Given the description of an element on the screen output the (x, y) to click on. 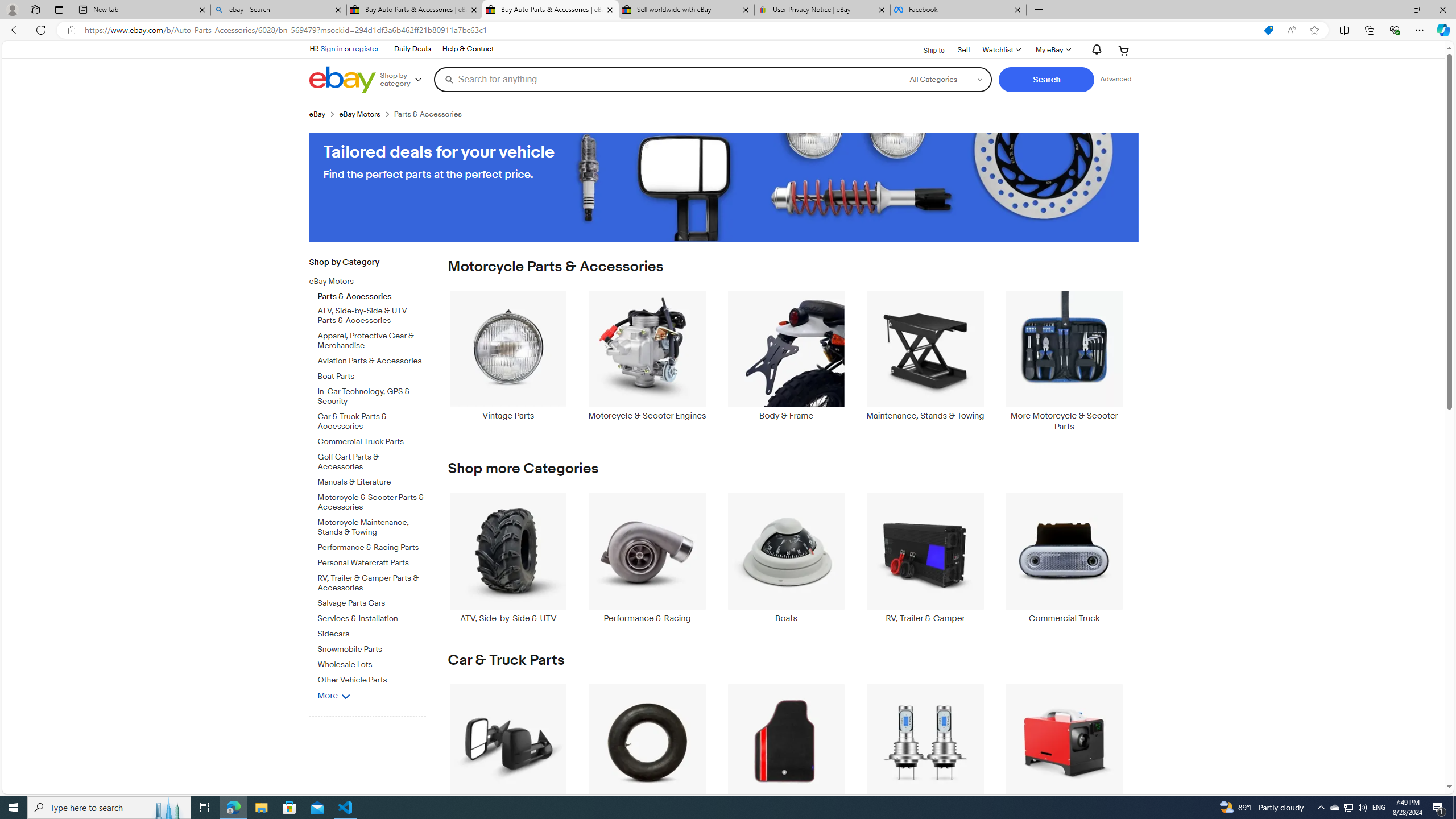
ATV, Side-by-Side & UTV Parts & Accessories (371, 316)
eBay (317, 113)
ATV, Side-by-Side & UTV (508, 558)
Snowmobile Parts (371, 649)
Help & Contact (467, 49)
In-Car Technology, GPS & Security (371, 394)
More Parts & Accessories (1064, 748)
Maintenance, Stands & Towing (925, 355)
User Privacy Notice | eBay (822, 9)
Wheels, Tires & Parts (646, 748)
eBay (323, 113)
Wholesale Lots (371, 665)
